Given the description of an element on the screen output the (x, y) to click on. 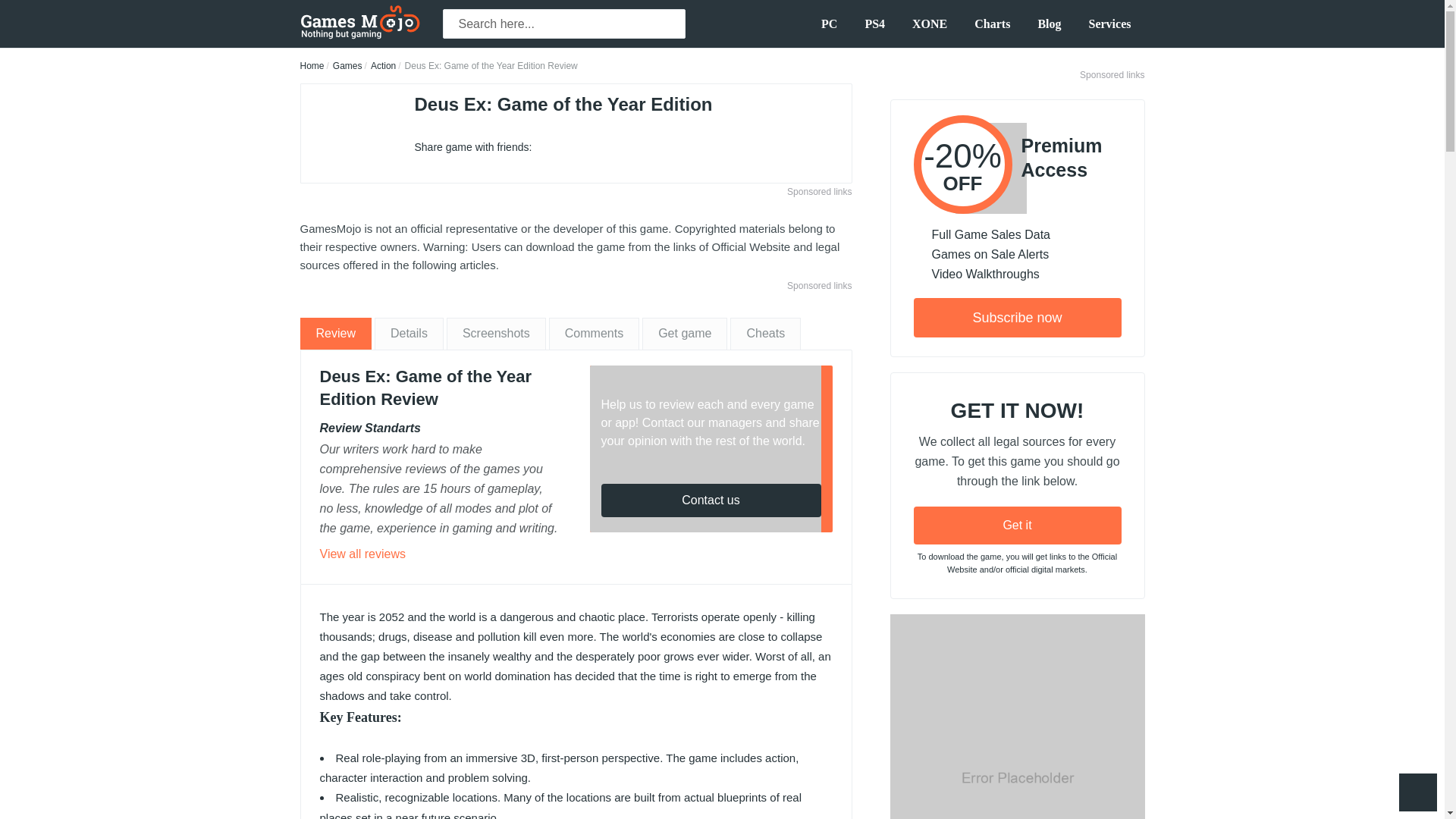
Details (409, 333)
Screenshots (496, 333)
View all reviews (363, 553)
XONE (929, 23)
Charts (991, 23)
Games (347, 65)
Contact us (575, 333)
Comments (710, 500)
Action (593, 333)
